Given the description of an element on the screen output the (x, y) to click on. 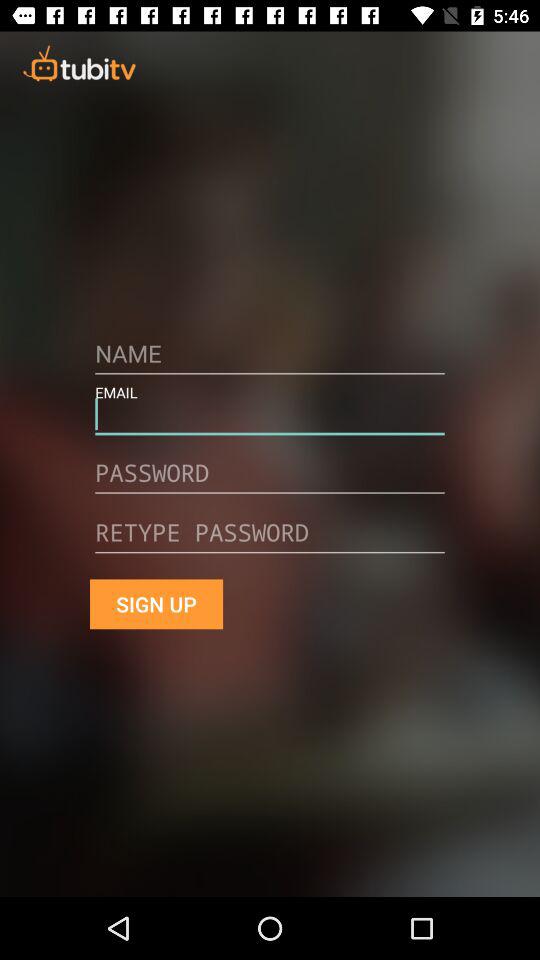
retype password (270, 540)
